Given the description of an element on the screen output the (x, y) to click on. 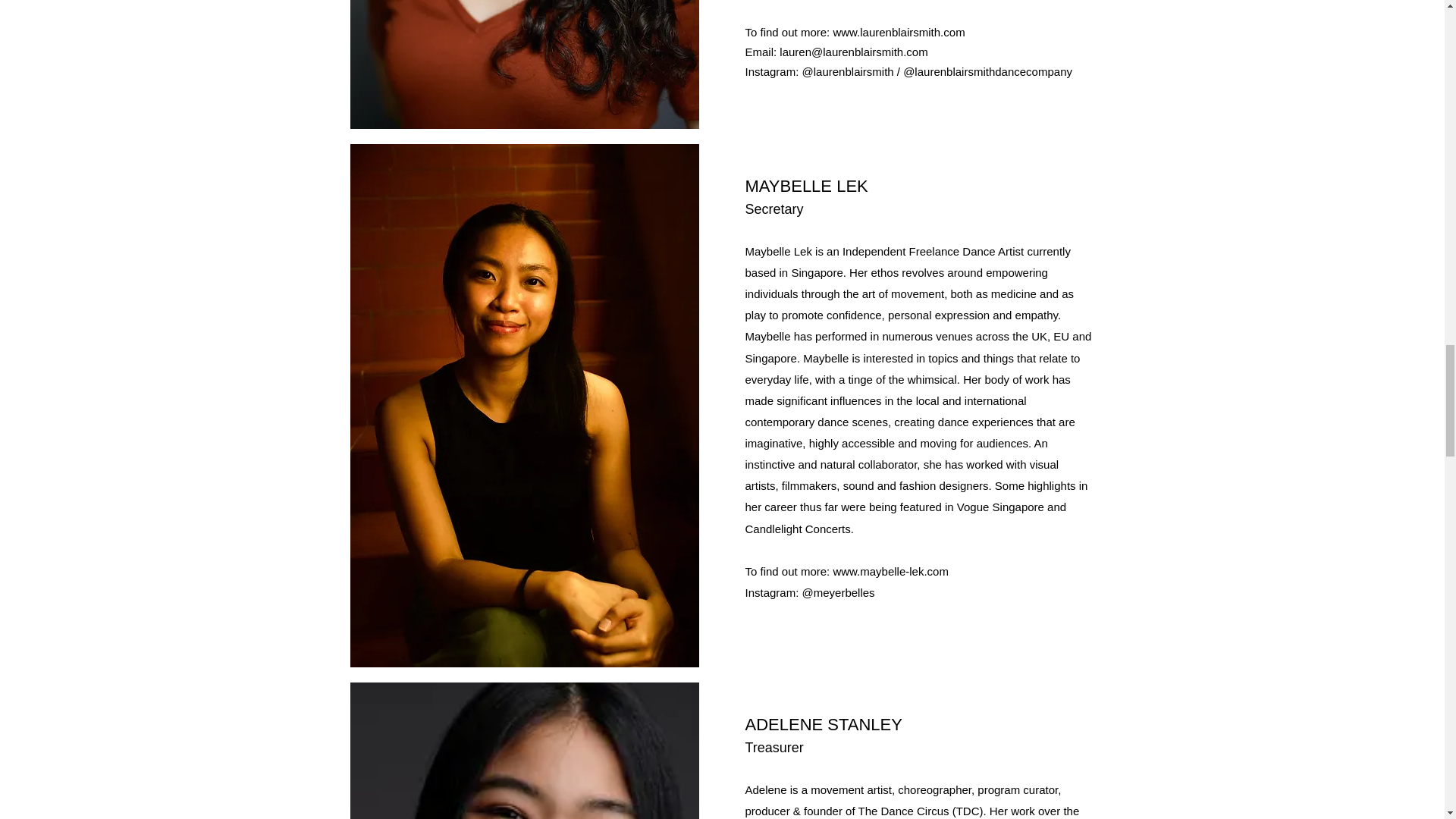
www.laurenblairsmith.com (897, 31)
www.maybelle-lek.com (890, 571)
